Given the description of an element on the screen output the (x, y) to click on. 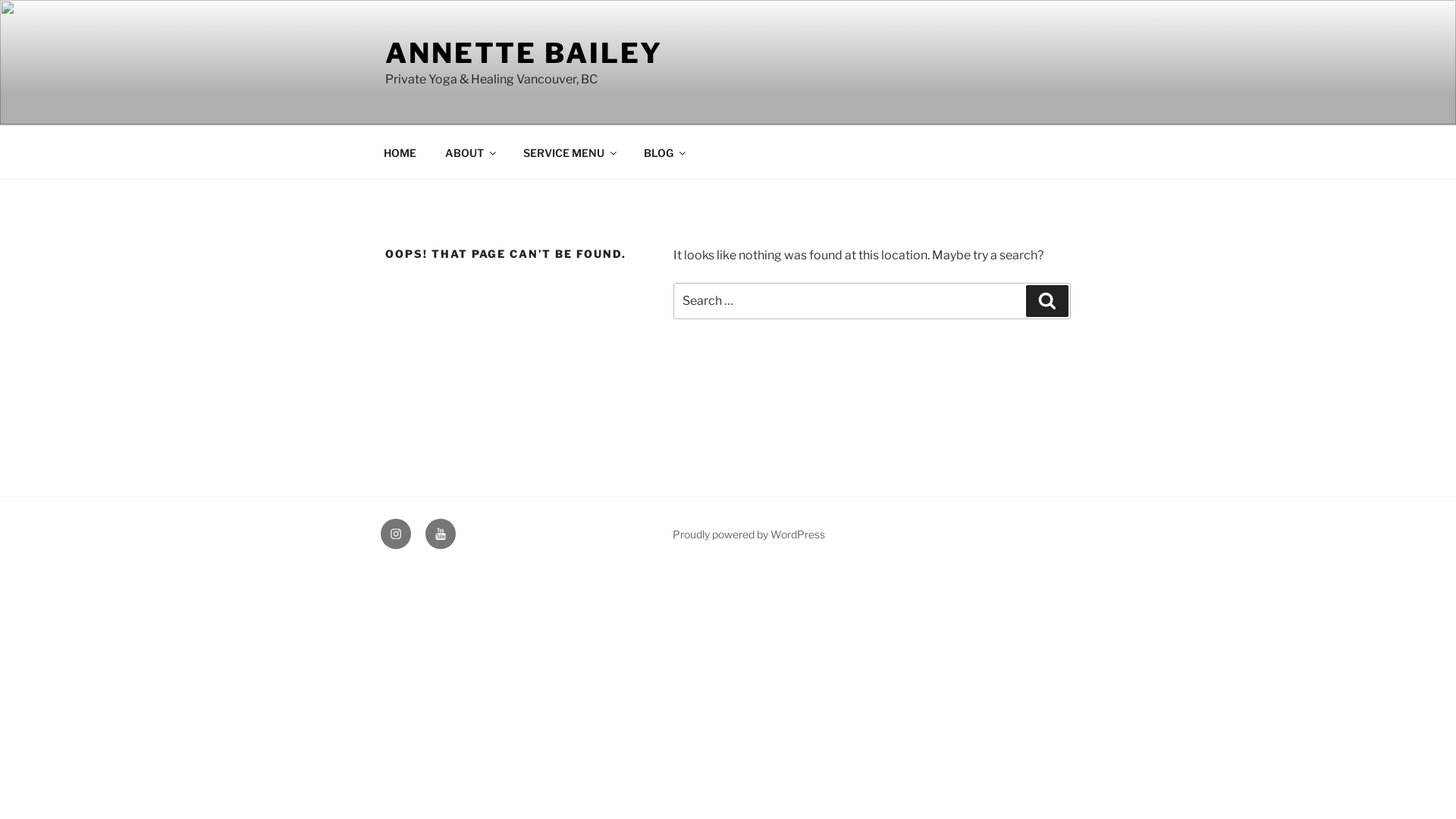
YouTube Element type: text (440, 533)
Instagram Element type: text (395, 533)
ABOUT Element type: text (469, 151)
BLOG Element type: text (663, 151)
SERVICE MENU Element type: text (568, 151)
HOME Element type: text (399, 151)
ANNETTE BAILEY Element type: text (523, 52)
Search Element type: text (1047, 300)
Proudly powered by WordPress Element type: text (748, 533)
